Given the description of an element on the screen output the (x, y) to click on. 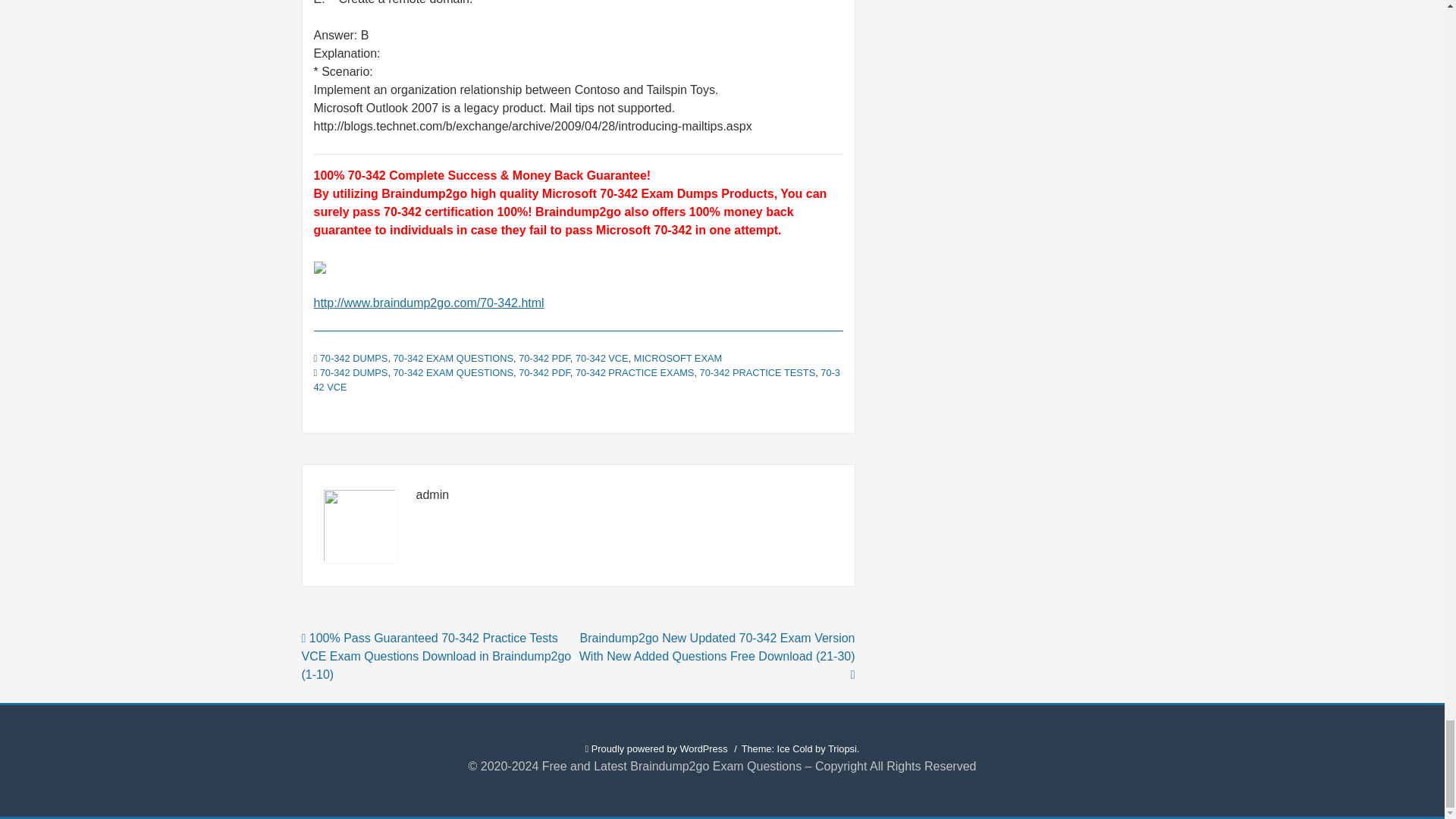
70-342 EXAM QUESTIONS (453, 372)
70-342 VCE (601, 357)
70-342 PRACTICE TESTS (757, 372)
MICROSOFT EXAM (677, 357)
70-342 PDF (544, 372)
70-342 PDF (544, 357)
70-342 PRACTICE EXAMS (634, 372)
70-342 DUMPS (354, 357)
70-342 DUMPS (354, 372)
70-342 EXAM QUESTIONS (453, 357)
70-342 VCE (577, 379)
